Given the description of an element on the screen output the (x, y) to click on. 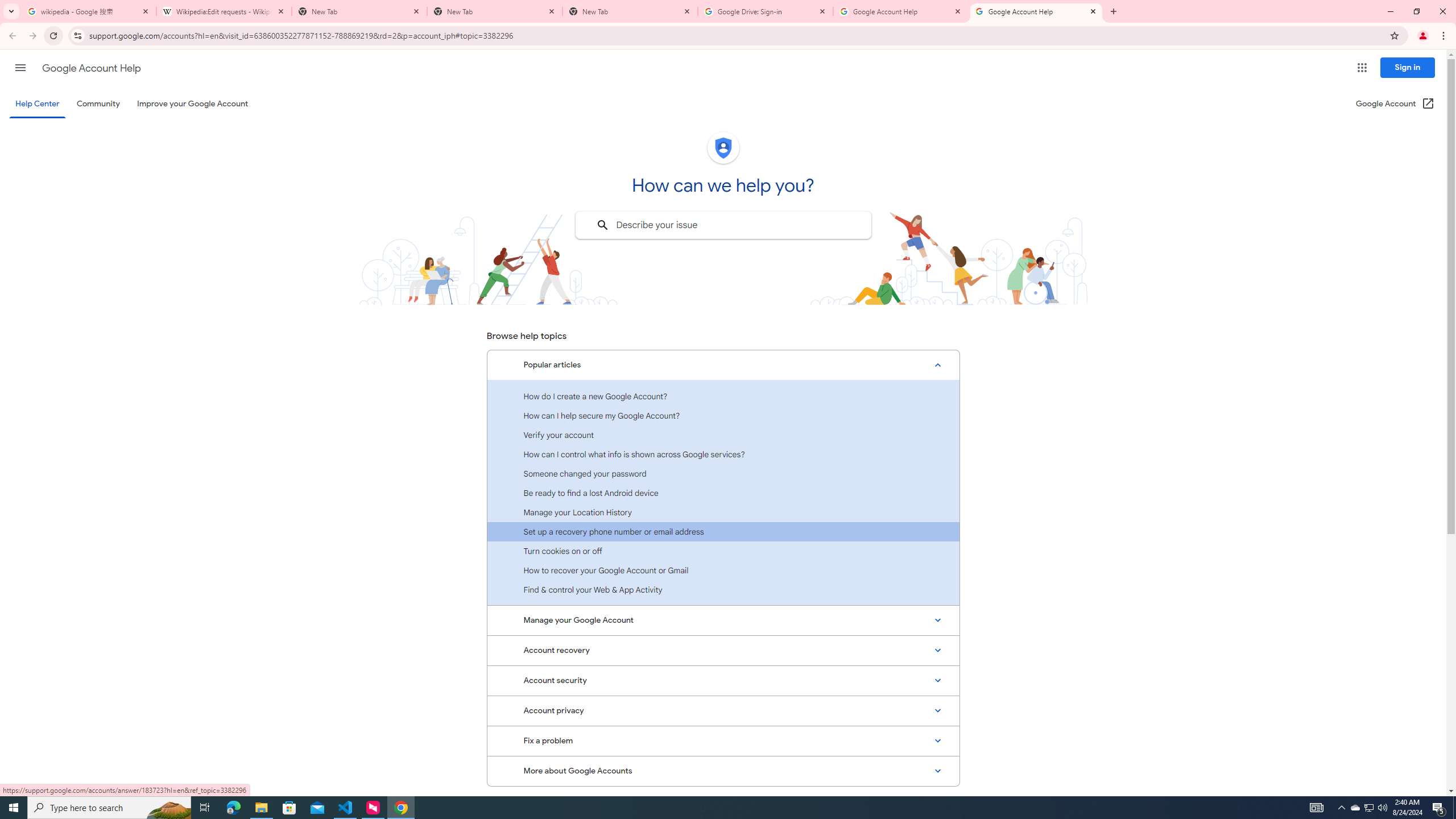
Wikipedia:Edit requests - Wikipedia (224, 11)
Main menu (20, 67)
Account security (722, 680)
Turn cookies on or off (722, 551)
Google Account Help (91, 68)
Set up a recovery phone number or email address (722, 531)
Be ready to find a lost Android device (722, 492)
Improve your Google Account (192, 103)
Account privacy (722, 710)
